Given the description of an element on the screen output the (x, y) to click on. 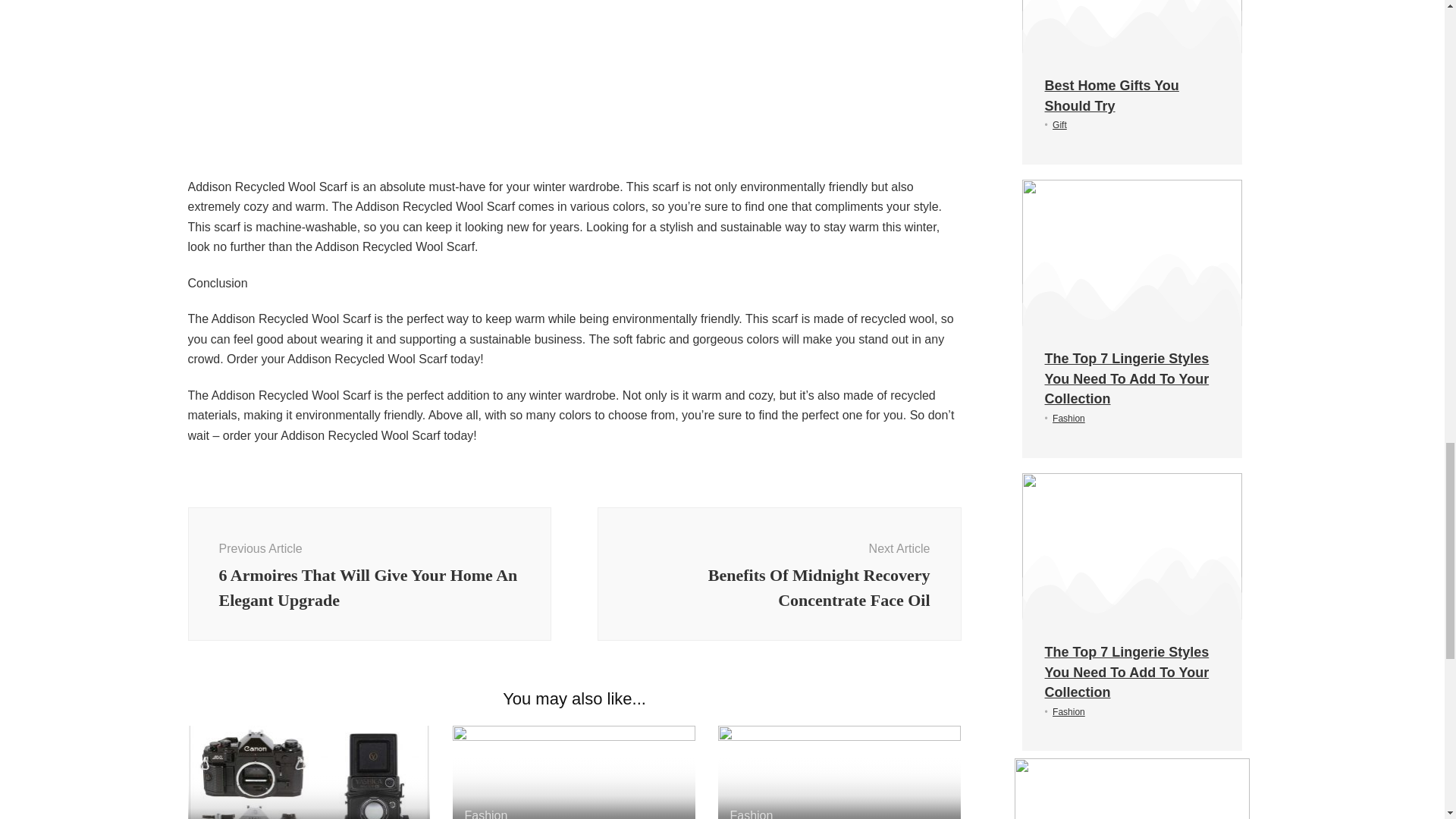
Fashion (751, 814)
Fashion (485, 814)
